Given the description of an element on the screen output the (x, y) to click on. 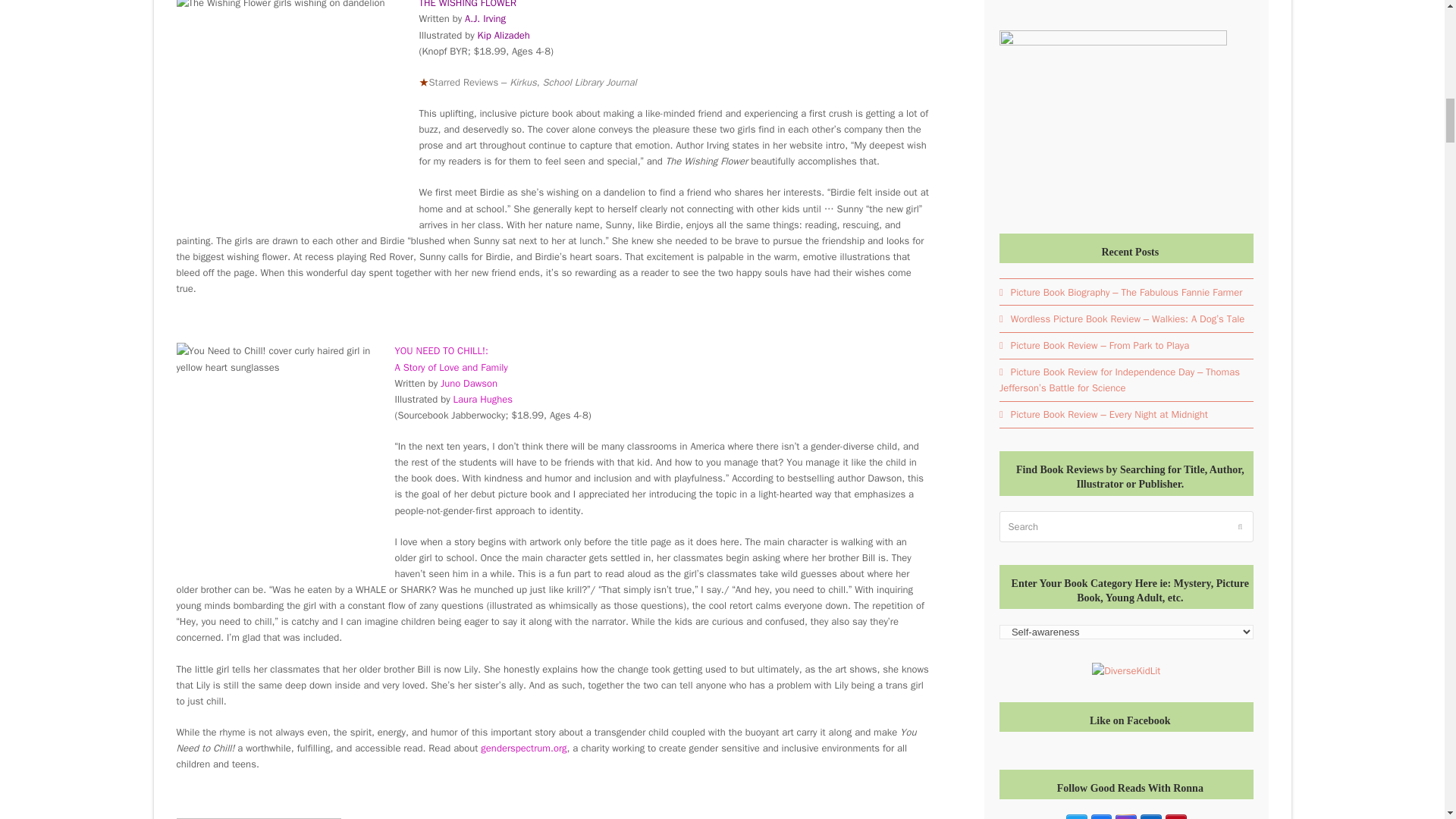
cover art by Kip Alizadeh from The Wishing Flower  (289, 110)
THE WISHING FLOWER (467, 4)
cover art by Laura Hughes from You Need to Chill! (277, 456)
A.J. Irving (484, 18)
